Given the description of an element on the screen output the (x, y) to click on. 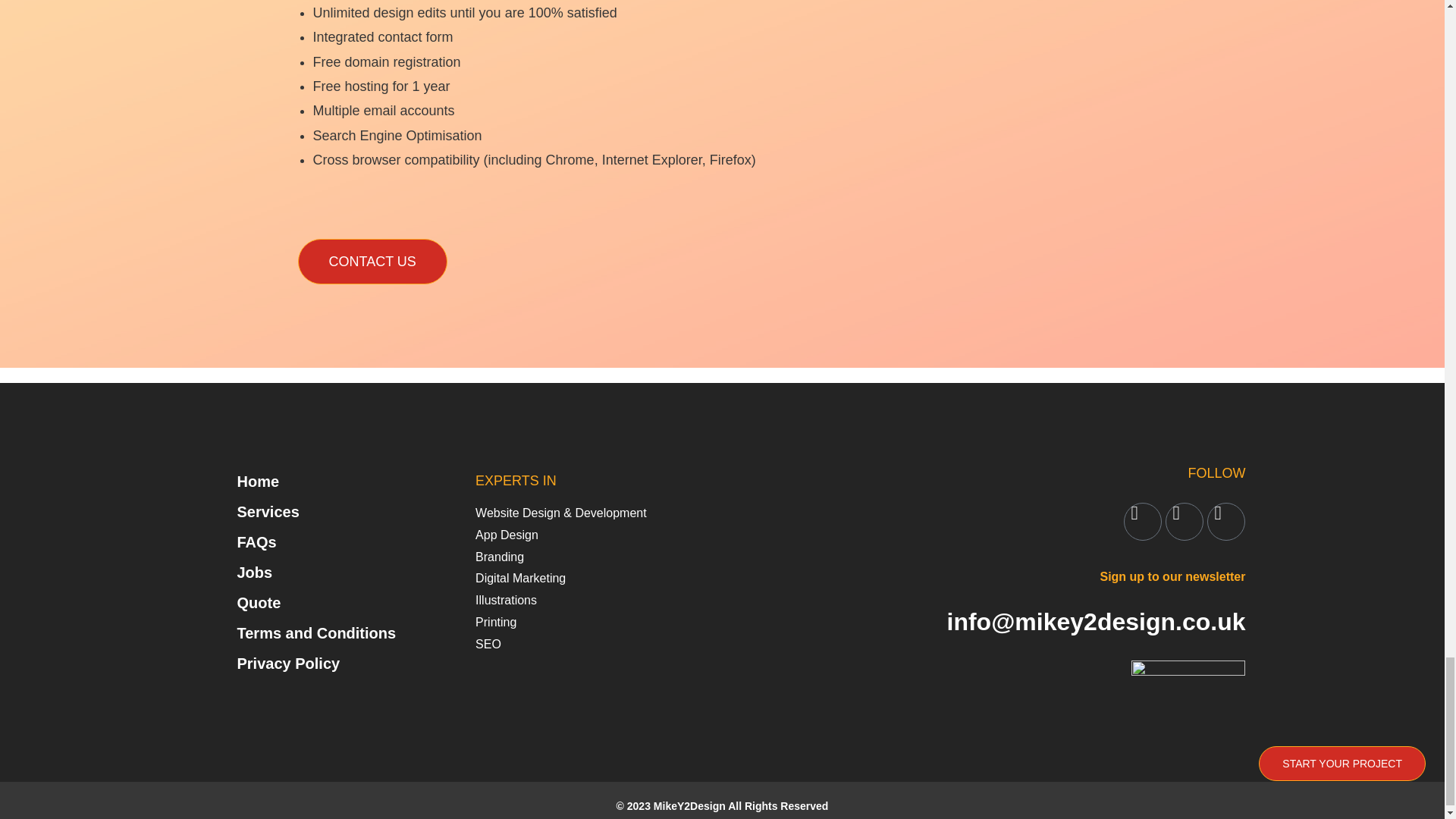
Branding (593, 557)
Jobs (325, 572)
Home (325, 481)
Privacy Policy (325, 663)
Digital Marketing (593, 578)
Terms and Conditions (325, 633)
Quote (325, 603)
CONTACT US (371, 261)
Services (325, 511)
App Design (593, 535)
